Given the description of an element on the screen output the (x, y) to click on. 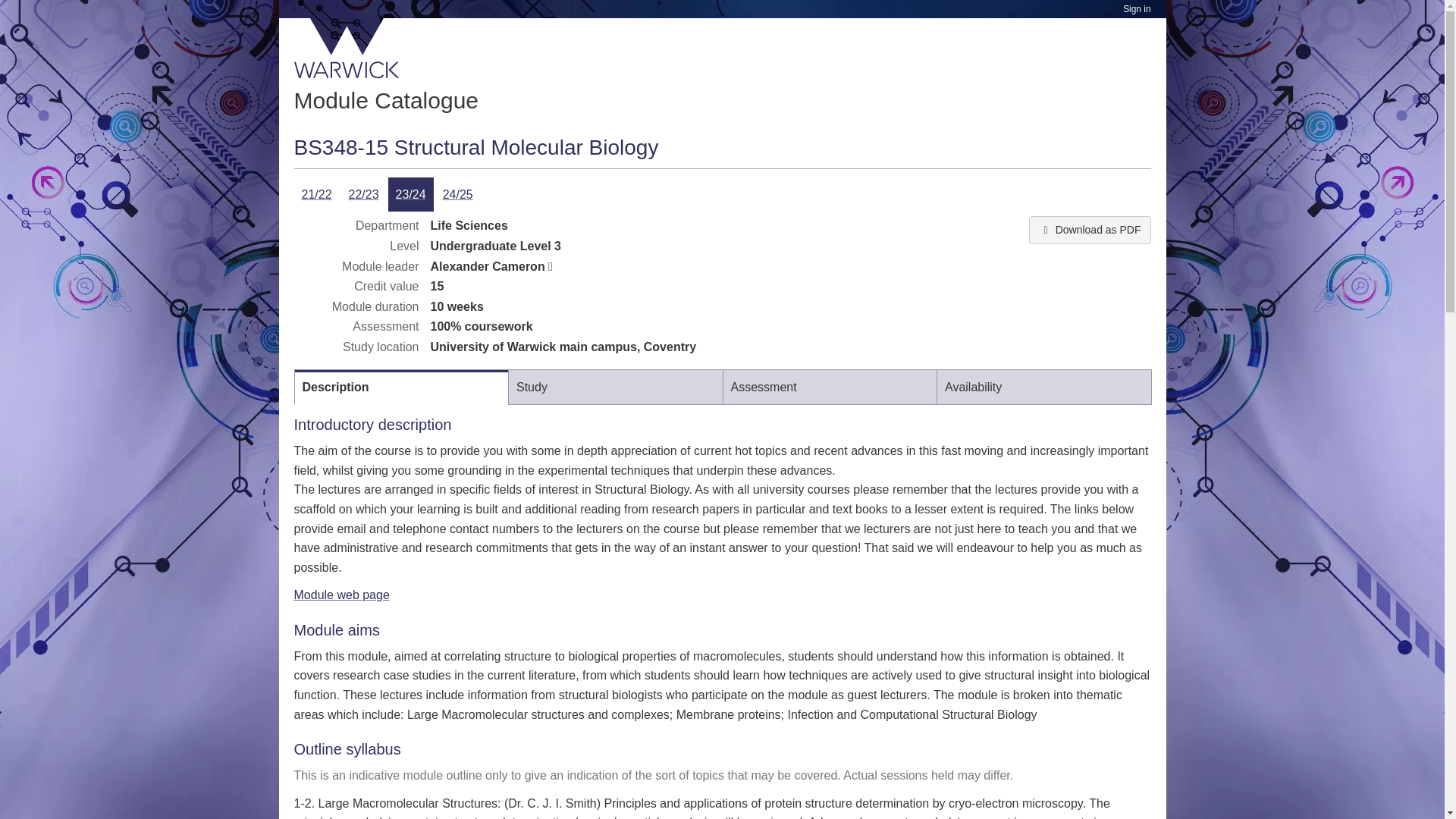
Description (401, 387)
Warwick homepage (346, 48)
Availability (1043, 387)
Study (615, 387)
Assessment (829, 387)
Module web page (342, 594)
Module Catalogue (386, 100)
Sign in (1136, 9)
Download as PDF (1089, 229)
